Given the description of an element on the screen output the (x, y) to click on. 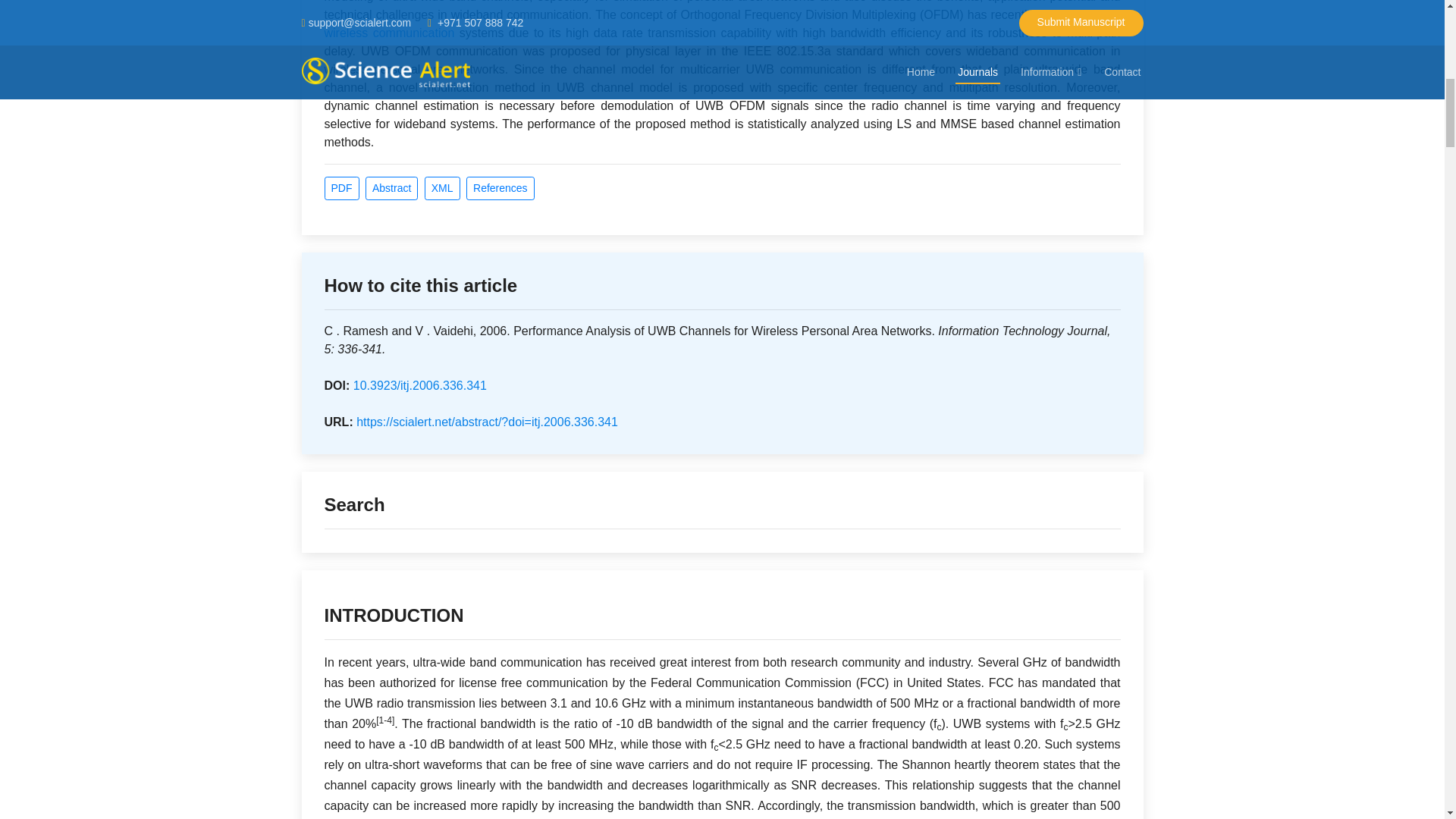
wireless communication (389, 32)
Abstract (391, 187)
Find more articles containting wireless communication (389, 32)
PDF (341, 187)
